Given the description of an element on the screen output the (x, y) to click on. 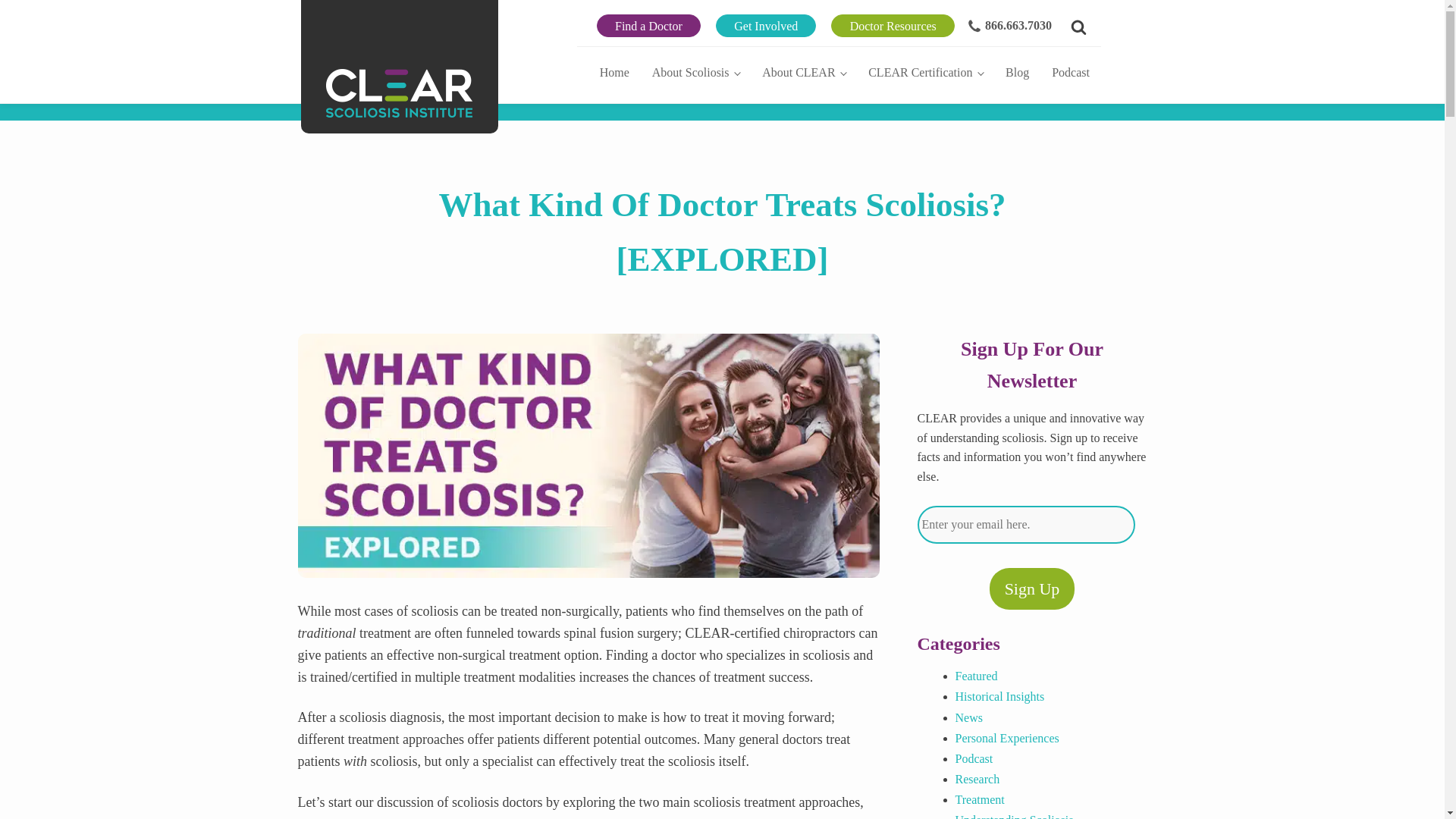
Find a Doctor (648, 25)
Get Involved (765, 25)
866.663.7030 (1006, 25)
Home (614, 71)
Sign Up (1032, 588)
Doctor Resources (893, 25)
About Scoliosis (695, 71)
